Given the description of an element on the screen output the (x, y) to click on. 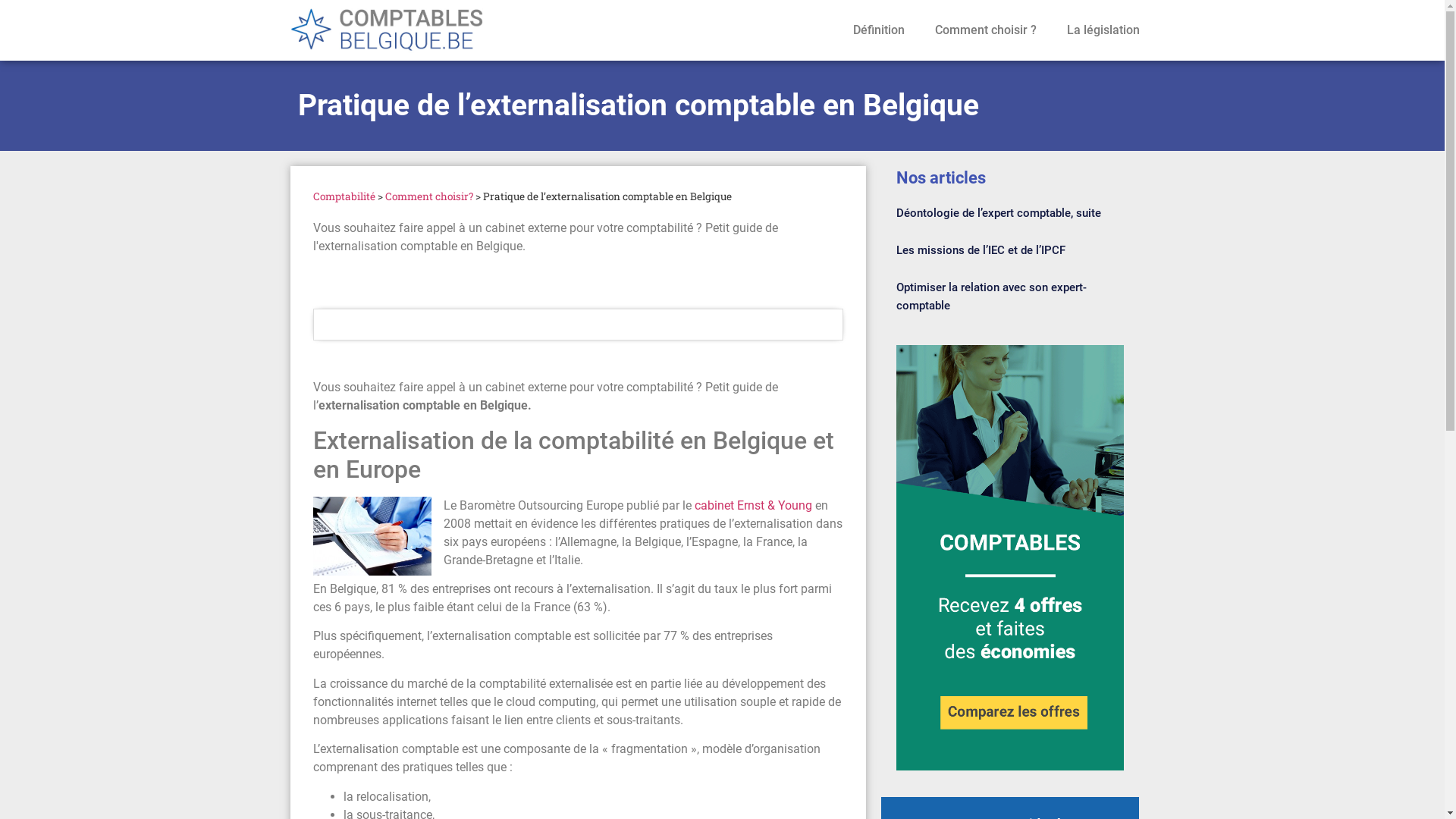
Optimiser la relation avec son expert-comptable Element type: text (991, 296)
Comment choisir? Element type: text (429, 196)
Comptable_Belgique_logo Element type: hover (419, 30)
Externalisation comptable Belgique Element type: hover (371, 535)
0_Base_V Element type: hover (1009, 557)
cabinet Ernst & Young Element type: text (753, 505)
Comment choisir ? Element type: text (985, 29)
